Given the description of an element on the screen output the (x, y) to click on. 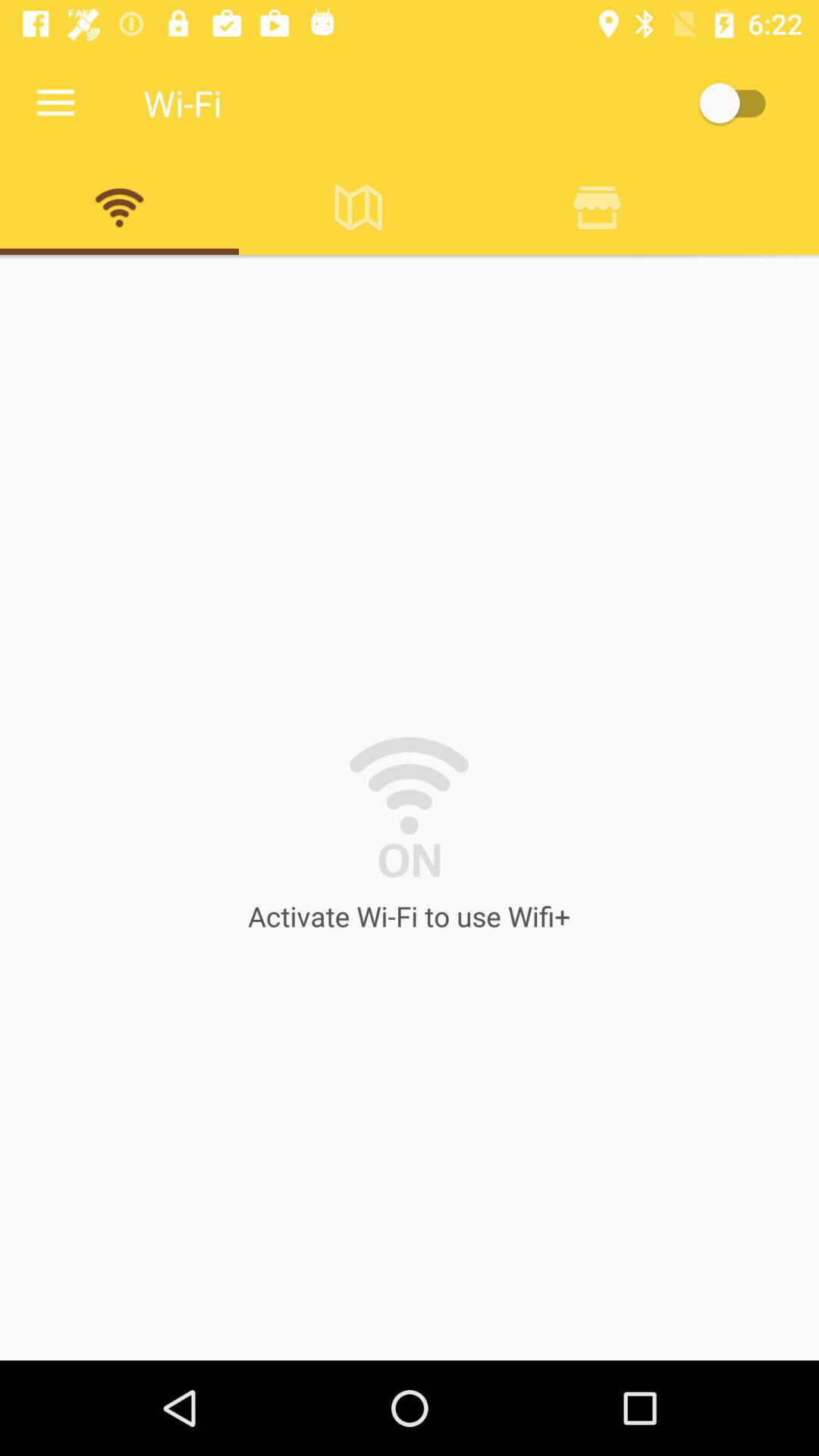
wifi image (119, 206)
